Given the description of an element on the screen output the (x, y) to click on. 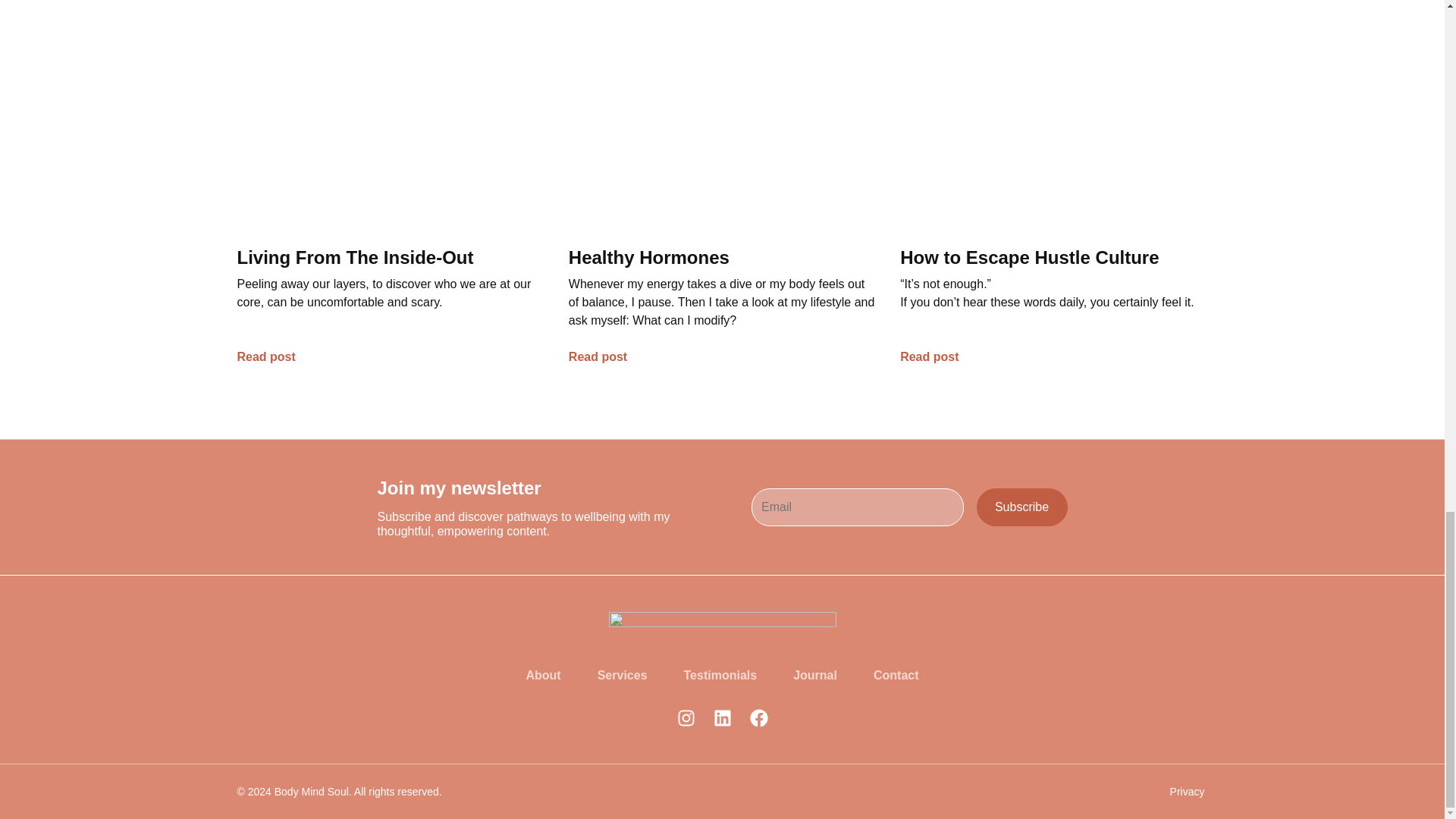
Subscribe (1021, 507)
About (542, 675)
Living From The Inside-Out (354, 257)
How to Escape Hustle Culture (1028, 257)
Healthy Hormones (649, 257)
Subscribe (1021, 507)
Read post (265, 356)
Read post (598, 356)
Read post (928, 356)
